Given the description of an element on the screen output the (x, y) to click on. 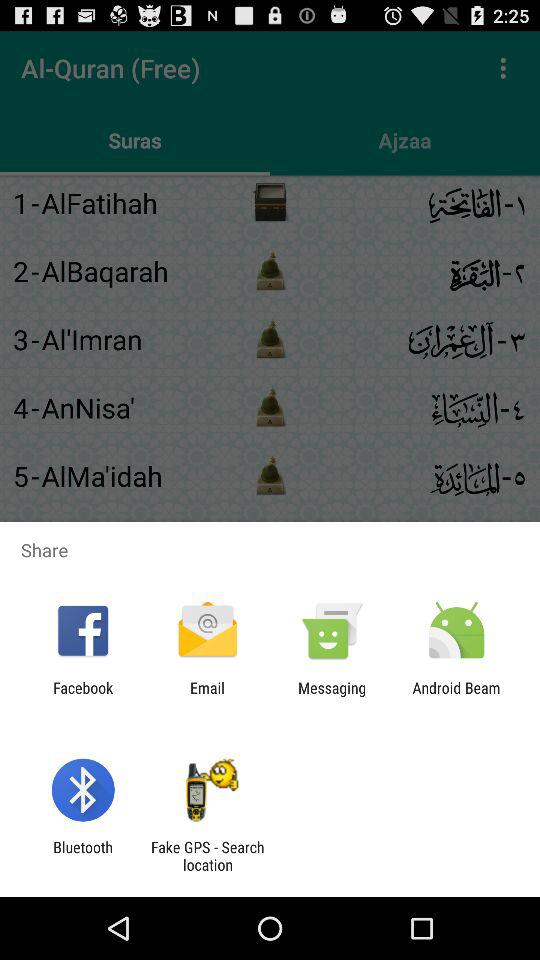
turn off the icon next to the messaging app (456, 696)
